Given the description of an element on the screen output the (x, y) to click on. 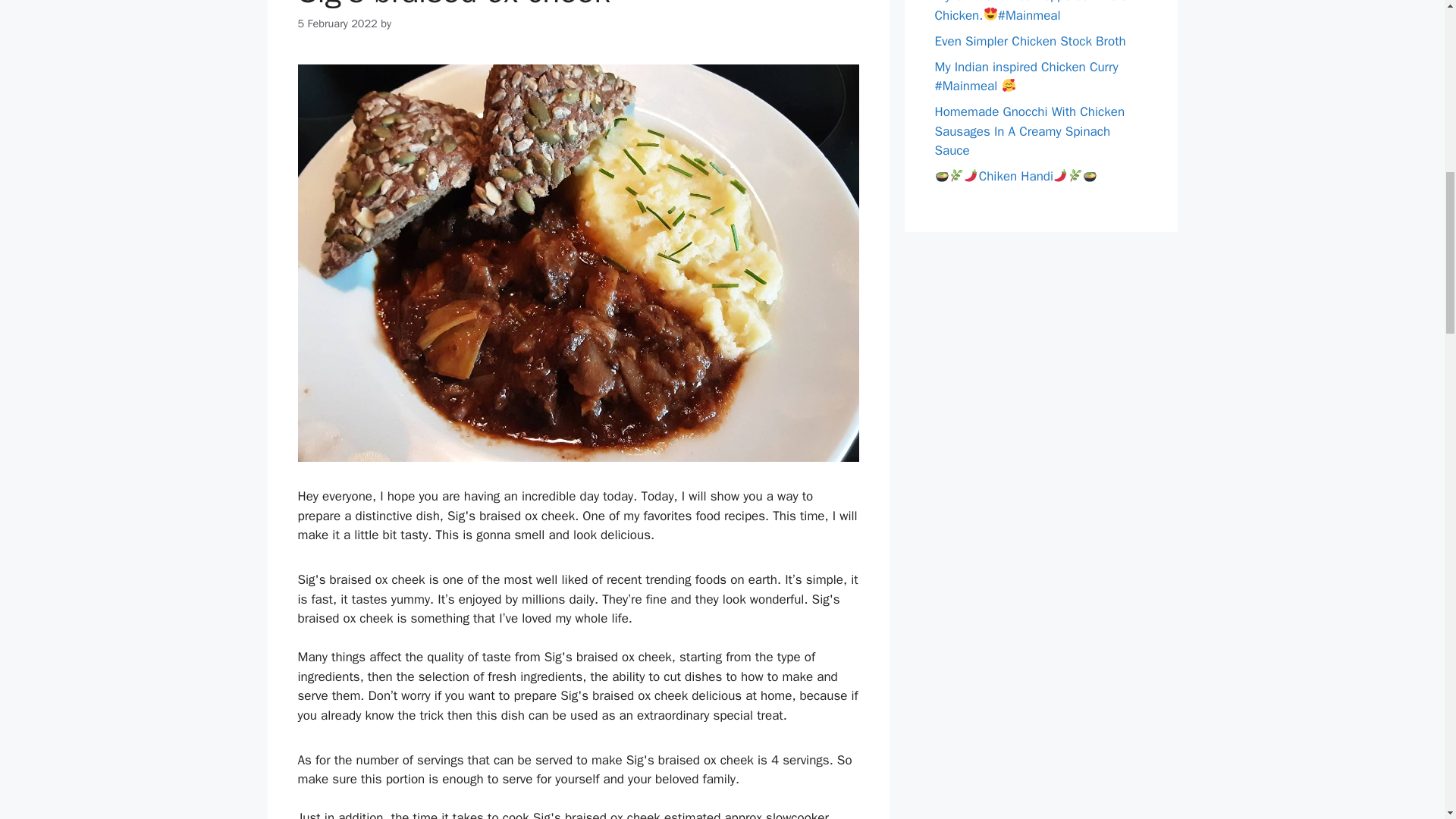
Even Simpler Chicken Stock Broth (1029, 41)
Chiken Handi (1015, 176)
